Given the description of an element on the screen output the (x, y) to click on. 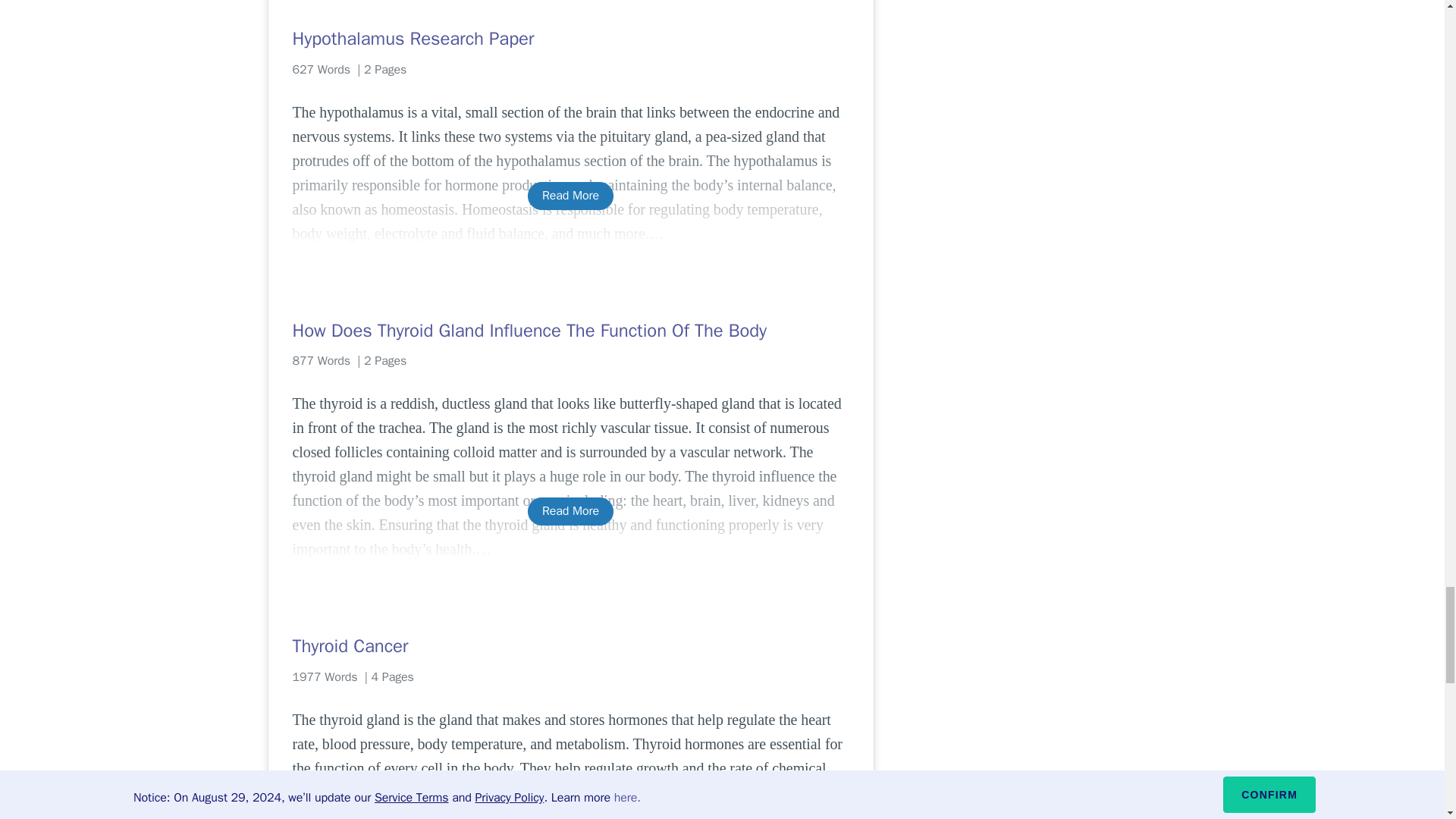
Hypothalamus Research Paper (570, 38)
